Given the description of an element on the screen output the (x, y) to click on. 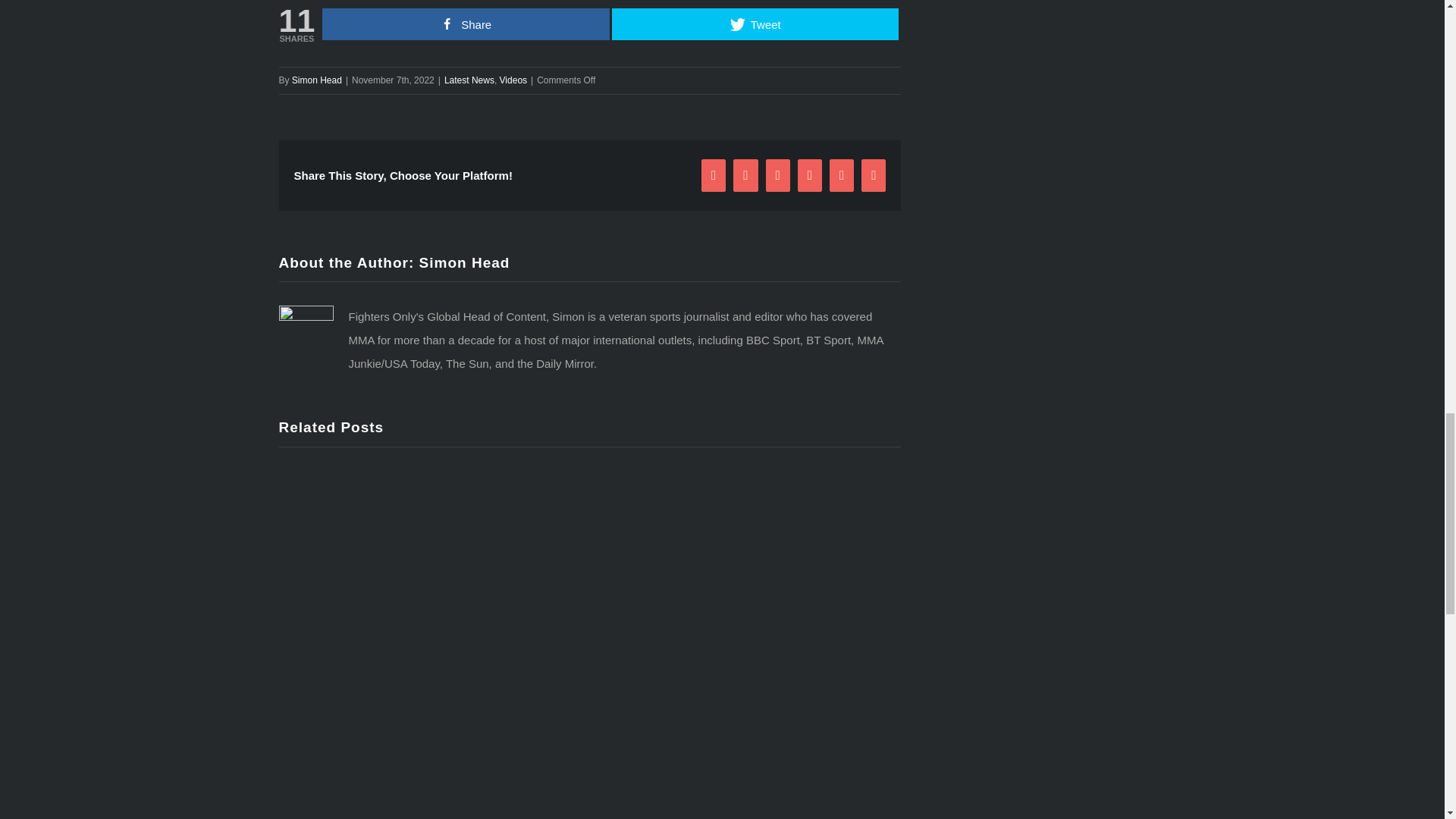
Posts by Simon Head (465, 262)
Tweet (755, 24)
Share (465, 24)
Videos (513, 80)
Posts by Simon Head (317, 80)
Simon Head (317, 80)
Simon Head (465, 262)
Latest News (469, 80)
